Given the description of an element on the screen output the (x, y) to click on. 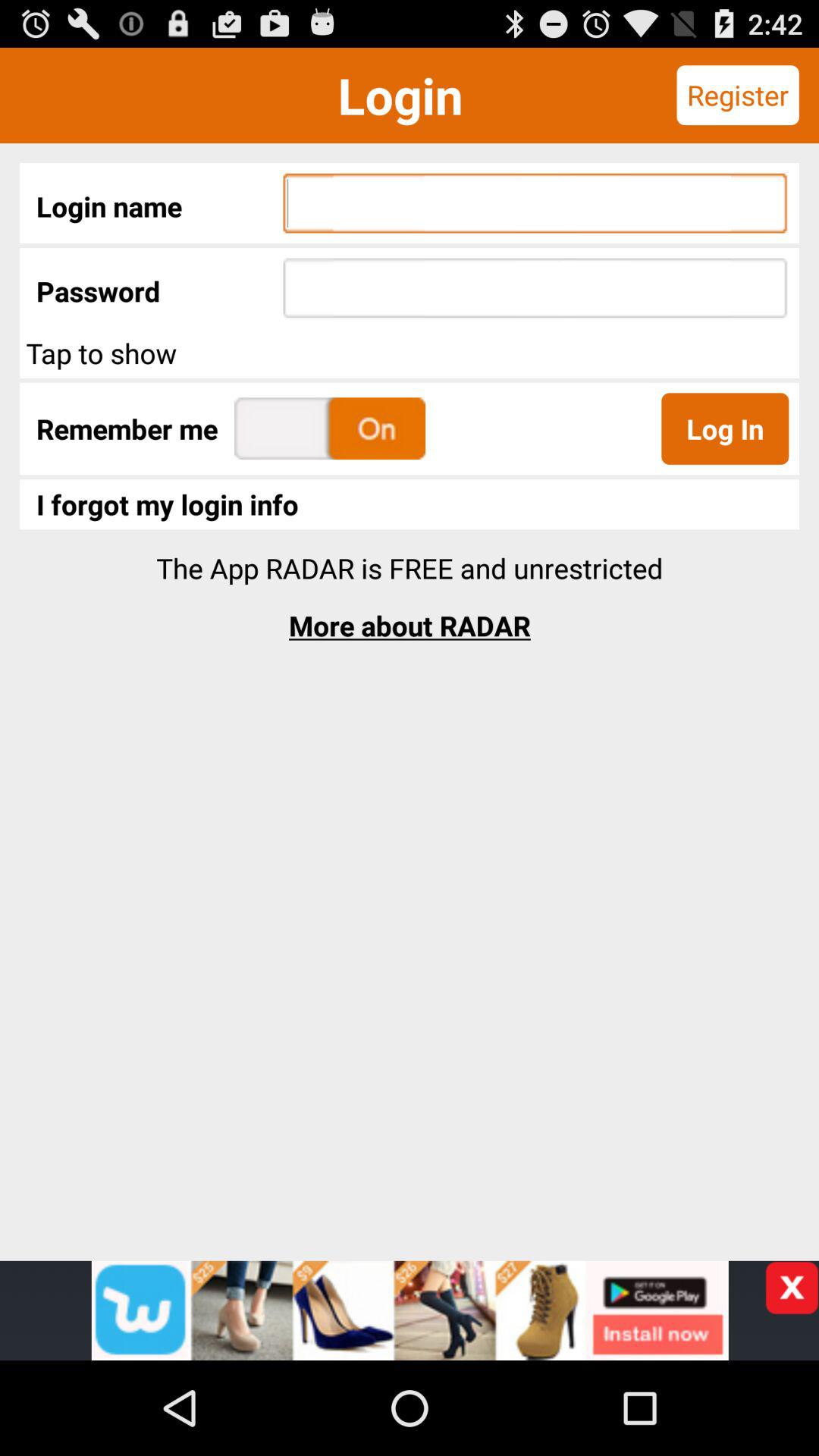
click to input user nmae (535, 203)
